Given the description of an element on the screen output the (x, y) to click on. 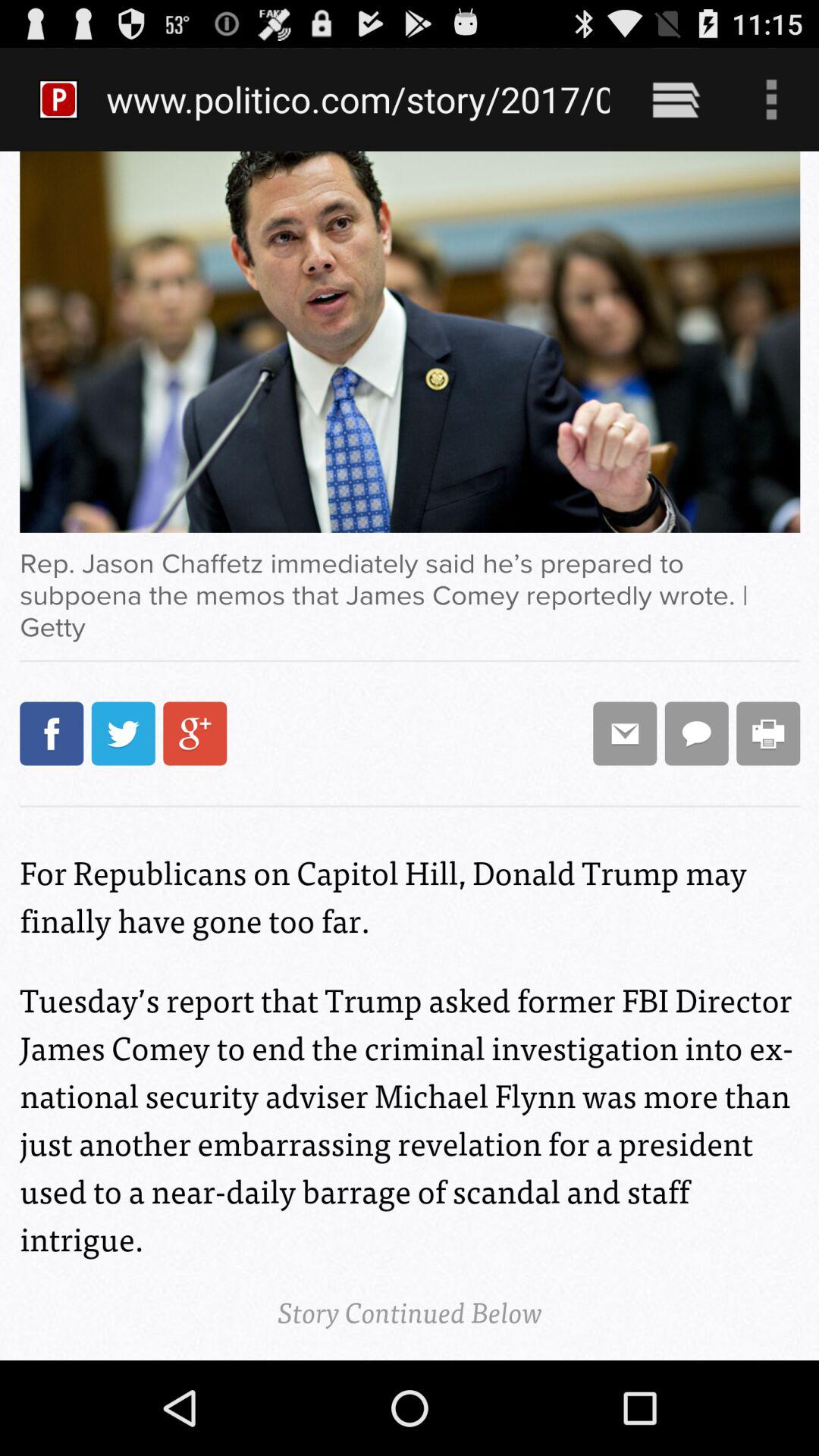
select the item to the right of www politico com item (675, 99)
